Given the description of an element on the screen output the (x, y) to click on. 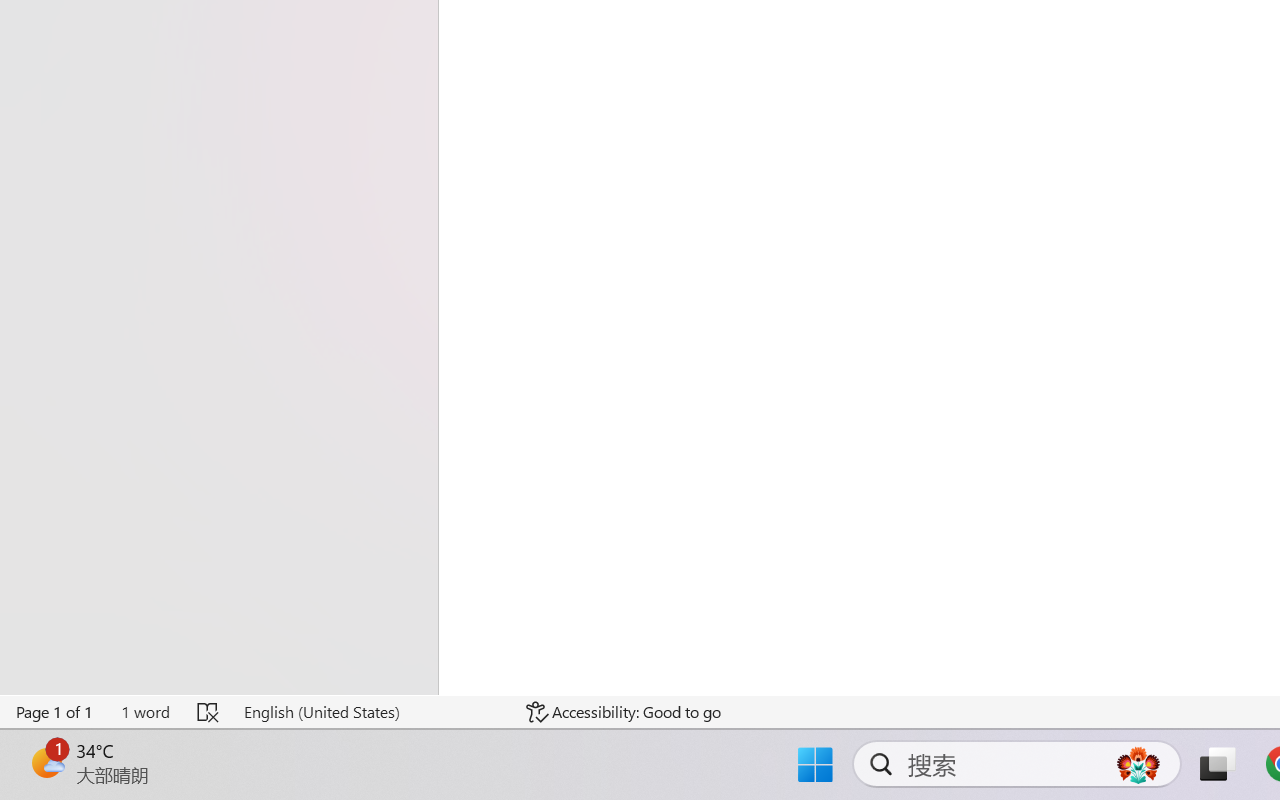
Spelling and Grammar Check Errors (208, 712)
